Given the description of an element on the screen output the (x, y) to click on. 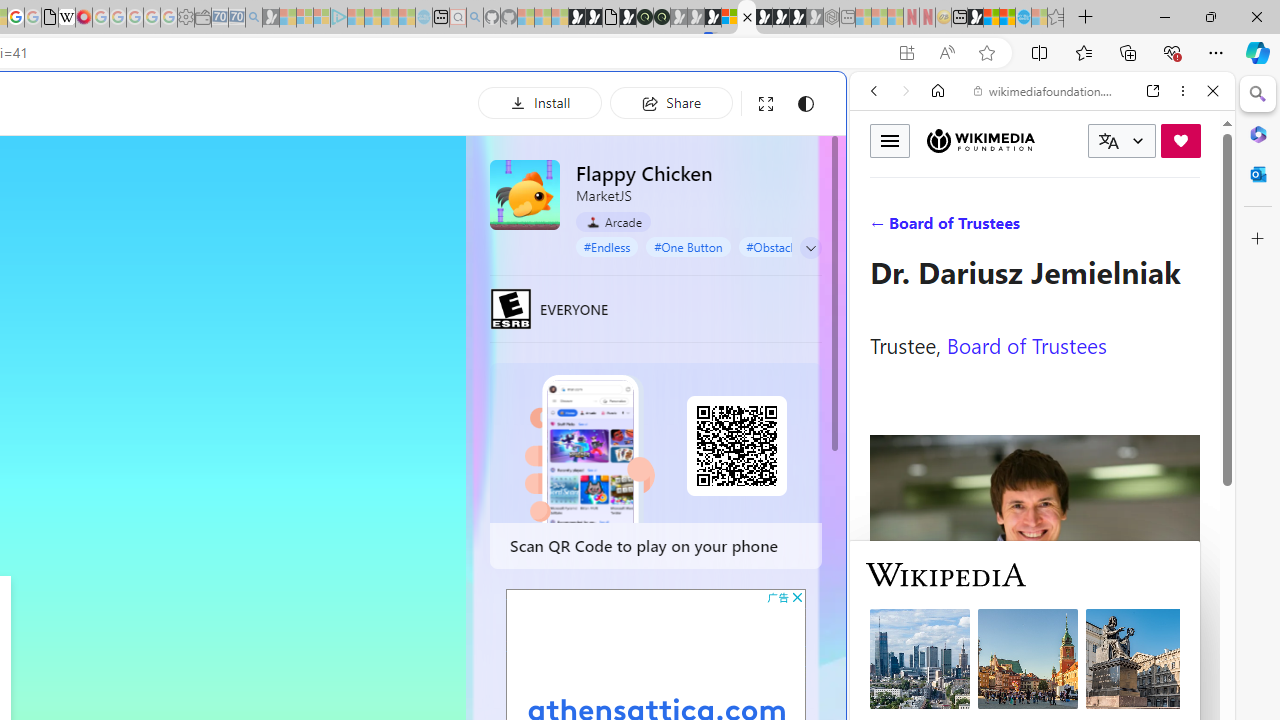
Browser essentials (1171, 52)
Class: b_serphb (1190, 229)
Home | Sky Blue Bikes - Sky Blue Bikes - Sleeping (424, 17)
Web scope (882, 180)
Play Free Online Games | Games from Microsoft Start (763, 17)
Wikimedia Foundation (980, 141)
